Given the description of an element on the screen output the (x, y) to click on. 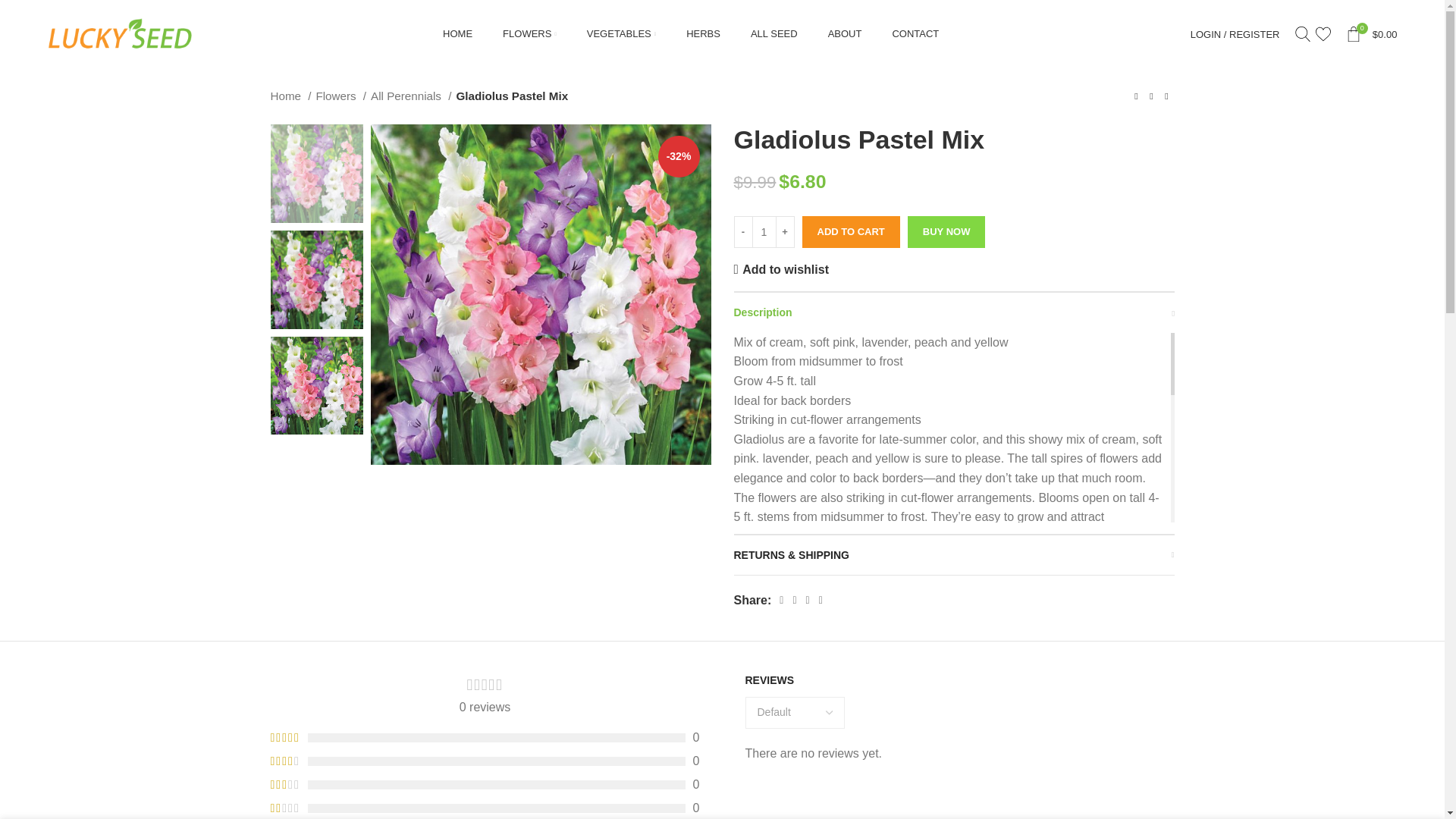
My account (1234, 33)
Gladiolus Pastel Mix 1 (539, 294)
FLOWERS (529, 33)
Shopping cart (1371, 33)
VEGETABLES (621, 33)
HOME (456, 33)
My Wishlist (1322, 33)
